Given the description of an element on the screen output the (x, y) to click on. 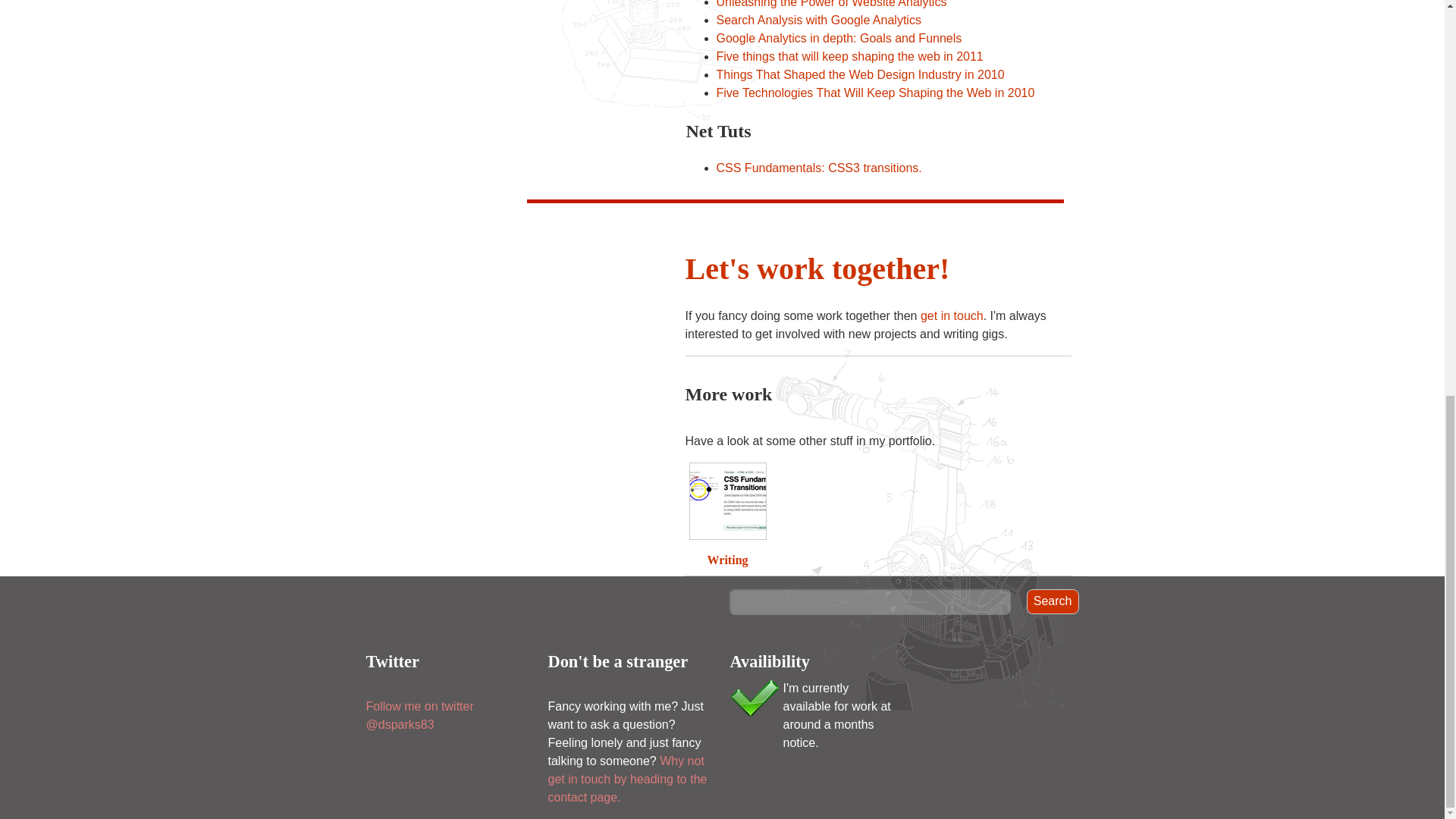
Search (1052, 601)
Five things that will keep shaping the web in 2011 (850, 56)
Things That Shaped the Web Design Industry in 2010 (860, 74)
Google Analytics in depth: Goals and Funnels (839, 38)
Search (1052, 601)
Why not get in touch by heading to the contact page. (626, 778)
get in touch (952, 315)
Five Technologies That Will Keep Shaping the Web in 2010 (875, 92)
CSS Fundamentals: CSS3 transitions. (818, 167)
Search Analysis with Google Analytics (818, 19)
Unleashing the Power of Website Analytics (831, 4)
Let's work together! (817, 268)
